Given the description of an element on the screen output the (x, y) to click on. 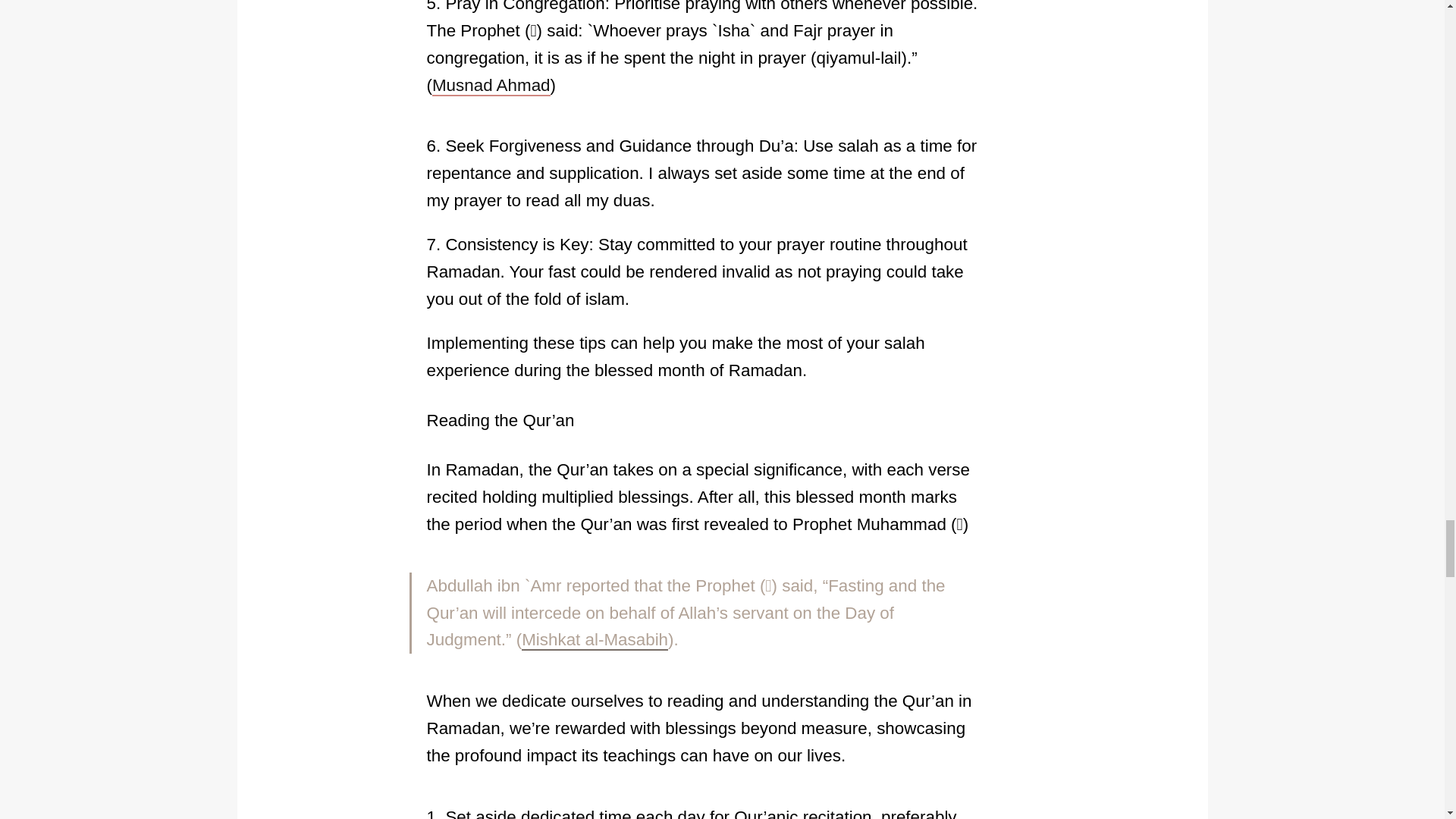
Mishkat al-Masabih (594, 639)
Musnad Ahmad (491, 86)
